Given the description of an element on the screen output the (x, y) to click on. 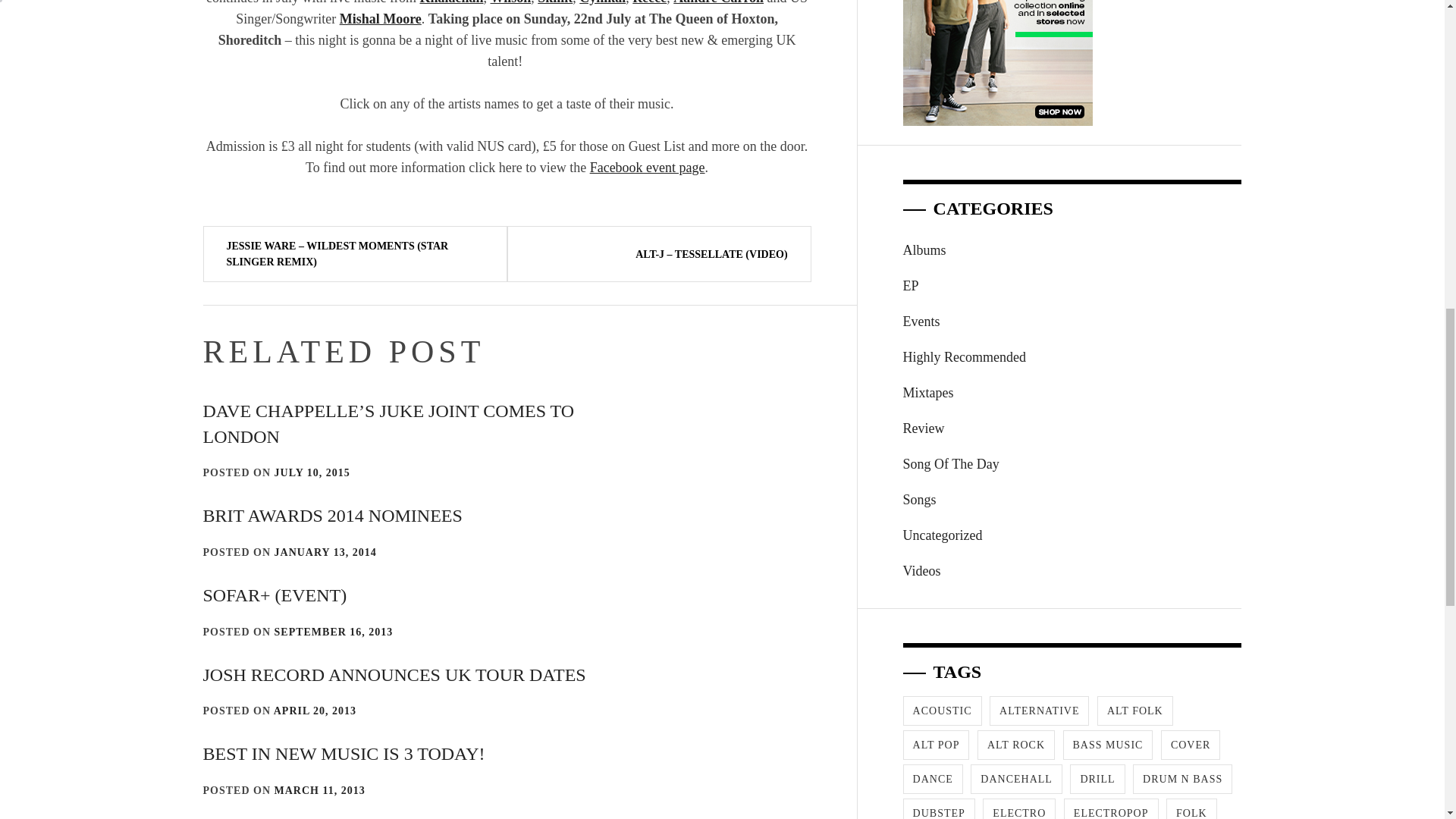
BRIT AWARDS 2014 NOMINEES (333, 515)
Wilson (510, 2)
Aandre Carroll (717, 2)
Skillit (554, 2)
Khalaeliah (451, 2)
JULY 10, 2015 (312, 472)
Mishal Moore (380, 18)
Facebook event page (646, 167)
SEPTEMBER 16, 2013 (334, 632)
Cynikal (602, 2)
JANUARY 13, 2014 (326, 552)
Reece (648, 2)
